Given the description of an element on the screen output the (x, y) to click on. 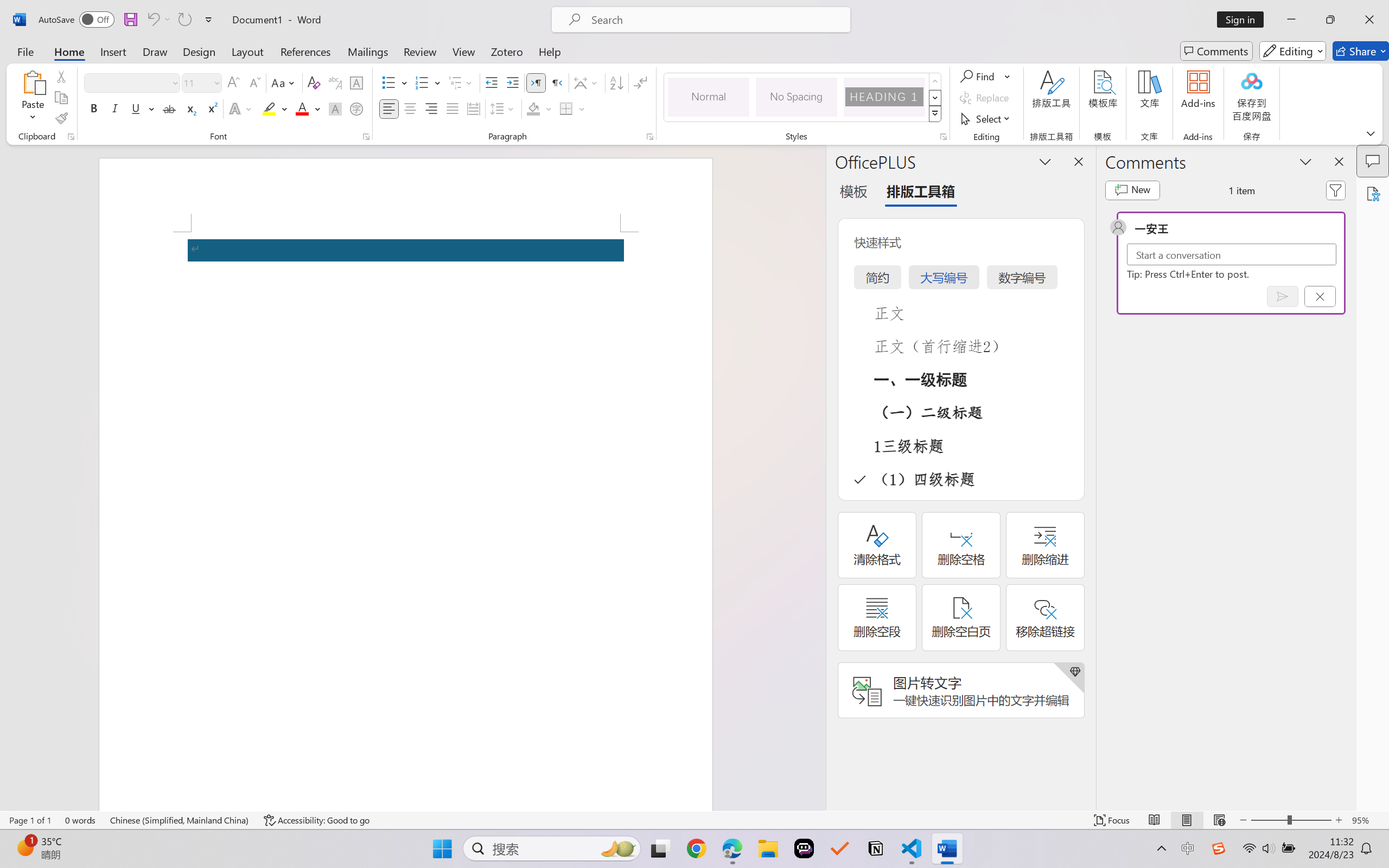
New comment (1132, 190)
